Given the description of an element on the screen output the (x, y) to click on. 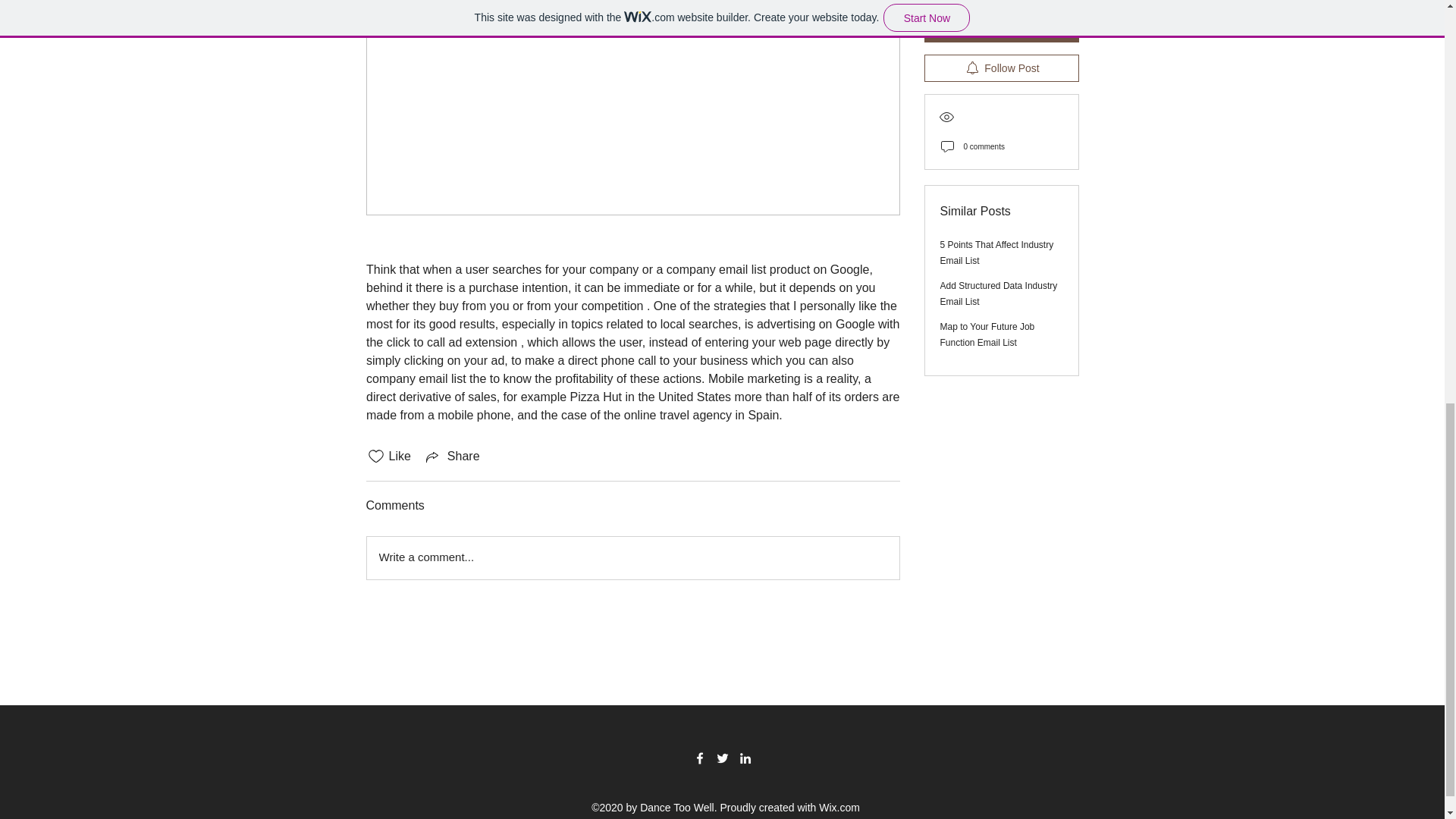
Share (451, 456)
Write a comment... (632, 558)
